Given the description of an element on the screen output the (x, y) to click on. 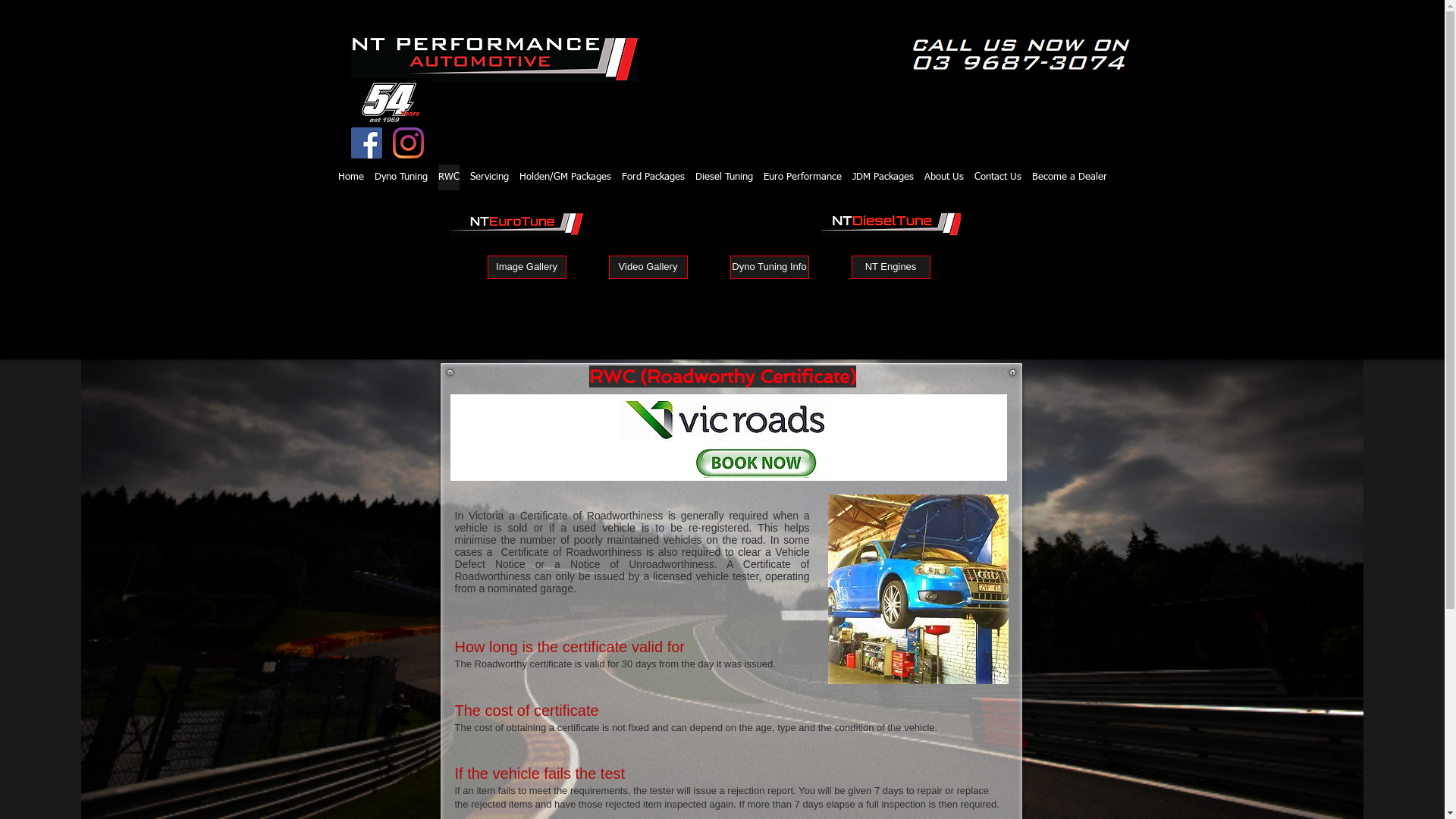
Diesel Tuning Element type: text (724, 177)
Video Gallery Element type: text (647, 267)
Site Search Element type: hover (1017, 292)
Holden/GM Packages Element type: text (565, 177)
Home Element type: text (350, 177)
RWC Element type: text (448, 177)
Contact Us Element type: text (997, 177)
Dyno Tuning Element type: text (400, 177)
Euro Performance Element type: text (802, 177)
rwc.jpg Element type: hover (722, 437)
call us Element type: hover (1020, 54)
Custom Diesel Dyno Tuning Element type: hover (890, 223)
Image Gallery Element type: text (525, 267)
Dyno Tuning Info Element type: text (768, 267)
NT Engines Element type: text (889, 267)
Custom Euro Dyno Tuning Element type: hover (516, 223)
Become a Dealer Element type: text (1069, 177)
JDM Packages Element type: text (882, 177)
Servicing Element type: text (488, 177)
Ford Packages Element type: text (652, 177)
NT_Performance_Logo.png Element type: hover (494, 58)
About Us Element type: text (944, 177)
